Given the description of an element on the screen output the (x, y) to click on. 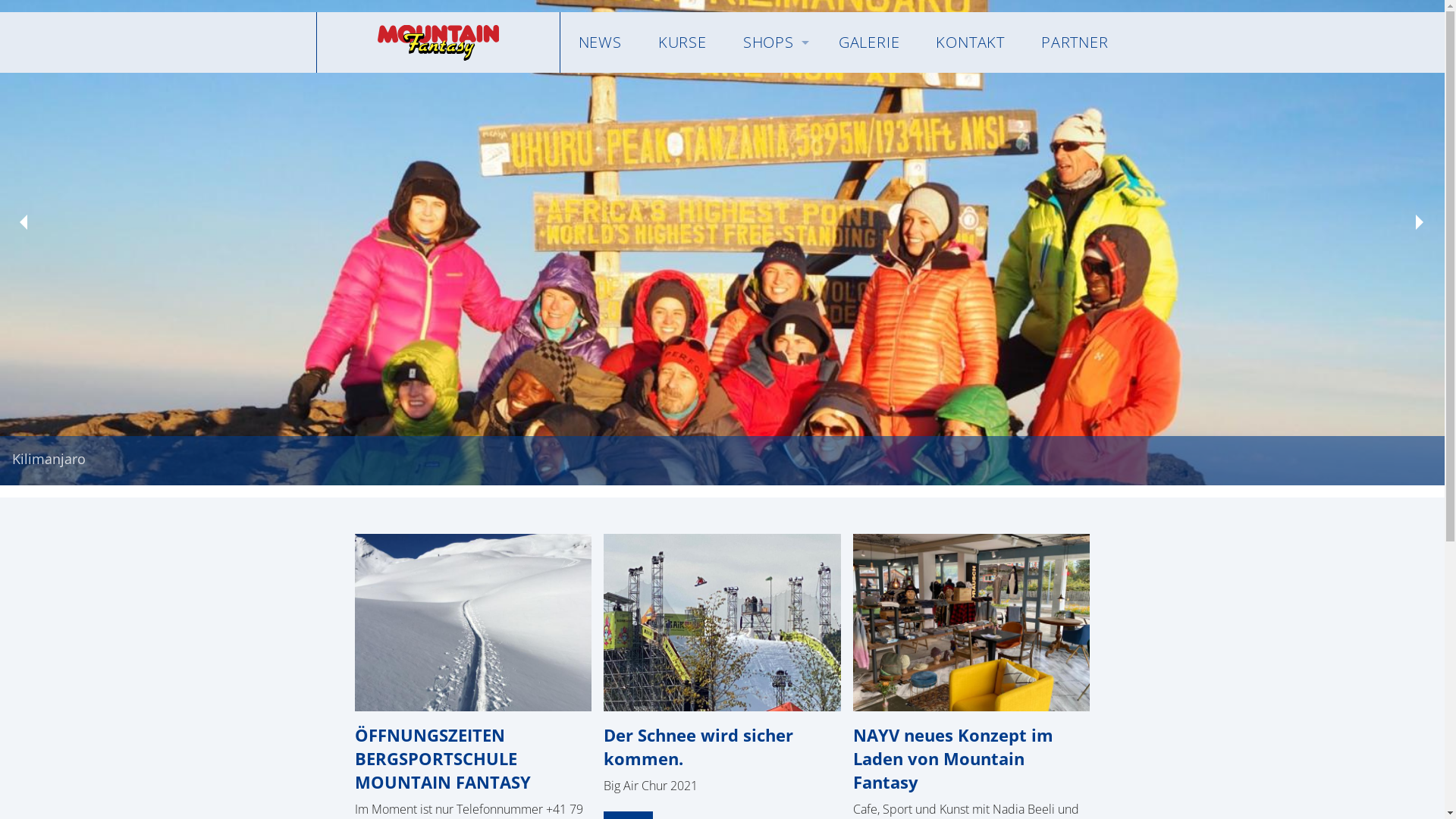
GALERIE Element type: text (869, 42)
Mountain Fantasy Element type: text (437, 42)
SHOPS Element type: text (772, 42)
KURSE Element type: text (682, 42)
Mountain Fantasy Shop Flims ist geschlossen Element type: text (759, 99)
NAYV neues Konzept im Laden von Mountain Fantasy Element type: text (953, 758)
Der Schnee wird sicher kommen. Element type: text (698, 746)
KONTAKT Element type: text (969, 42)
PARTNER Element type: text (1074, 42)
Shop Thusis Element type: text (759, 124)
NEWS Element type: text (599, 42)
